Given the description of an element on the screen output the (x, y) to click on. 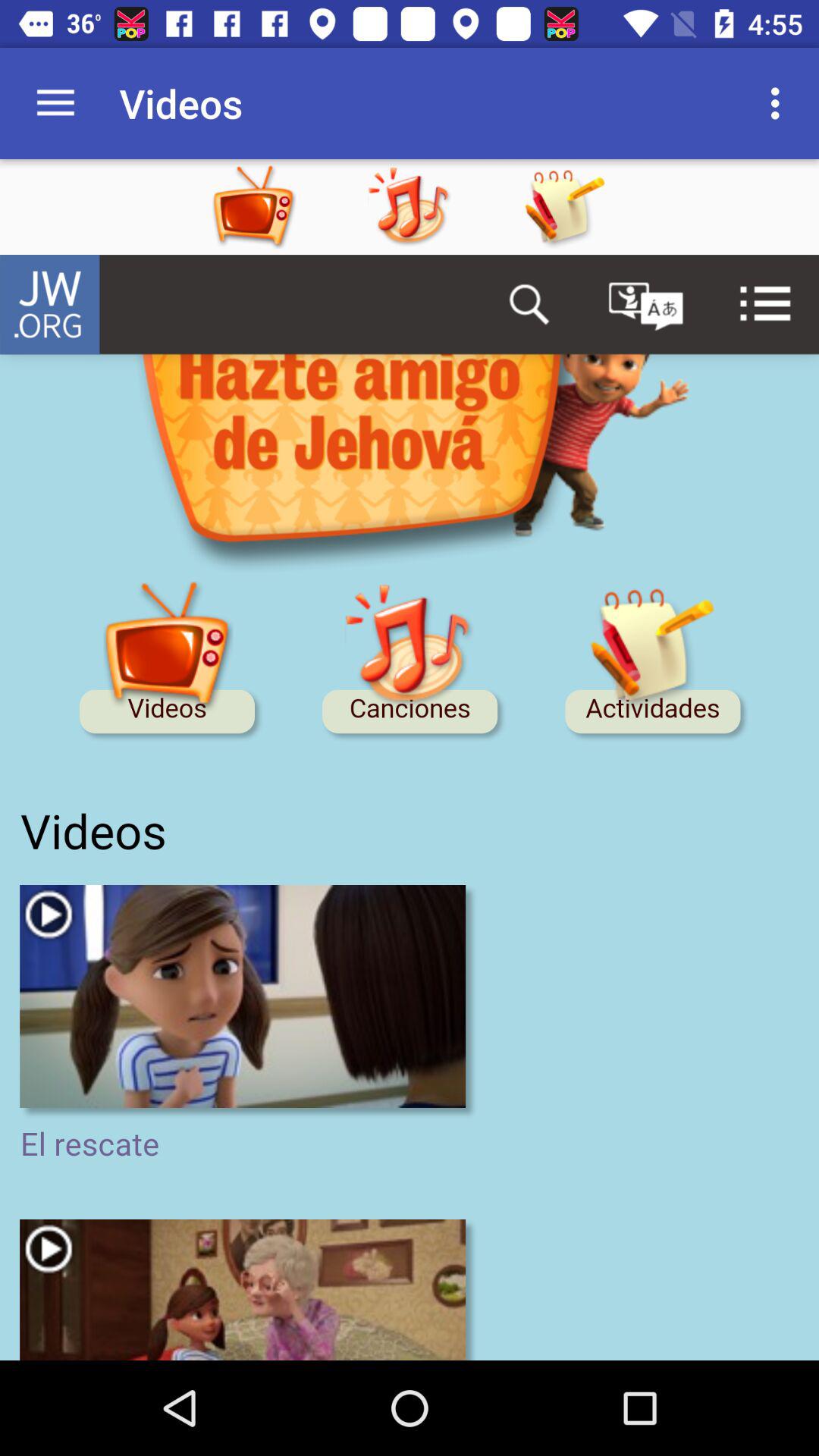
actividades icon (564, 206)
